Given the description of an element on the screen output the (x, y) to click on. 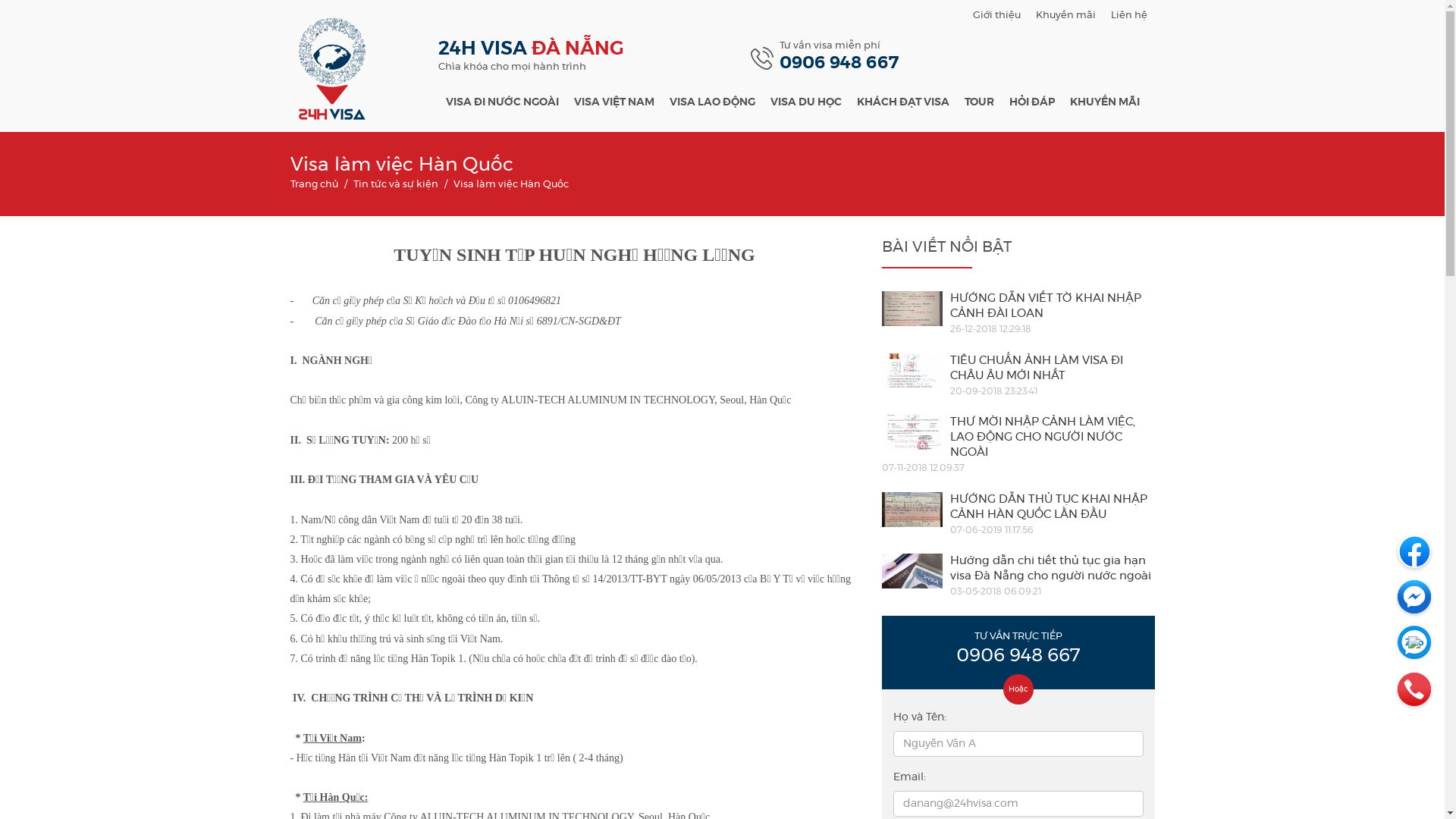
TOUR Element type: text (979, 106)
0906 948 667 Element type: text (1017, 655)
0906 948 667 Element type: text (838, 63)
